Given the description of an element on the screen output the (x, y) to click on. 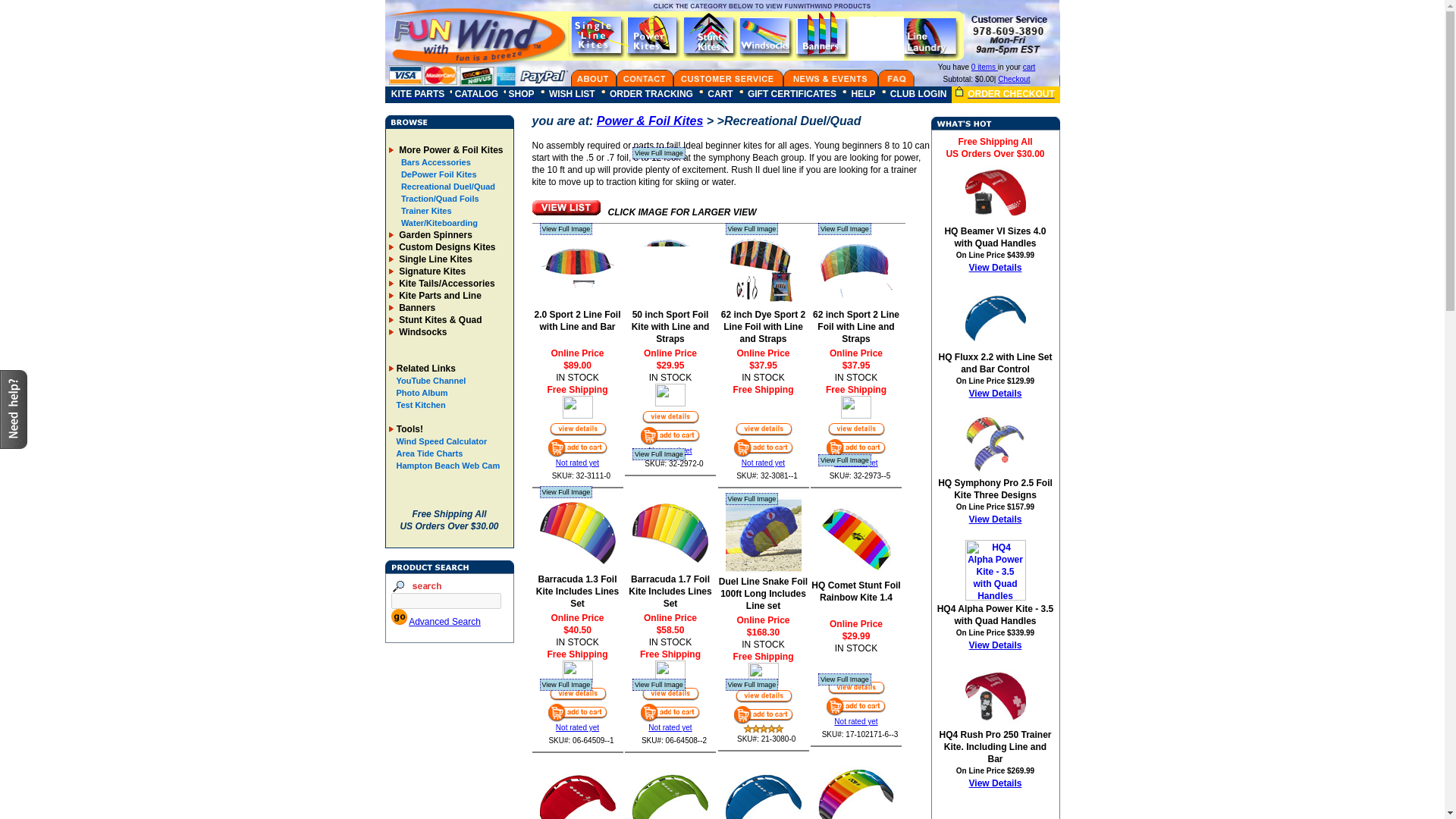
0 items (984, 67)
GIFT CERTIFICATES (791, 93)
Kite Parts and Line (438, 295)
ORDER CHECKOUT (1003, 93)
Bars Accessories (434, 162)
Custom Designs Kites (446, 246)
Checkout (1013, 79)
SHOP (521, 93)
Garden Spinners (433, 235)
Banners (415, 307)
